Given the description of an element on the screen output the (x, y) to click on. 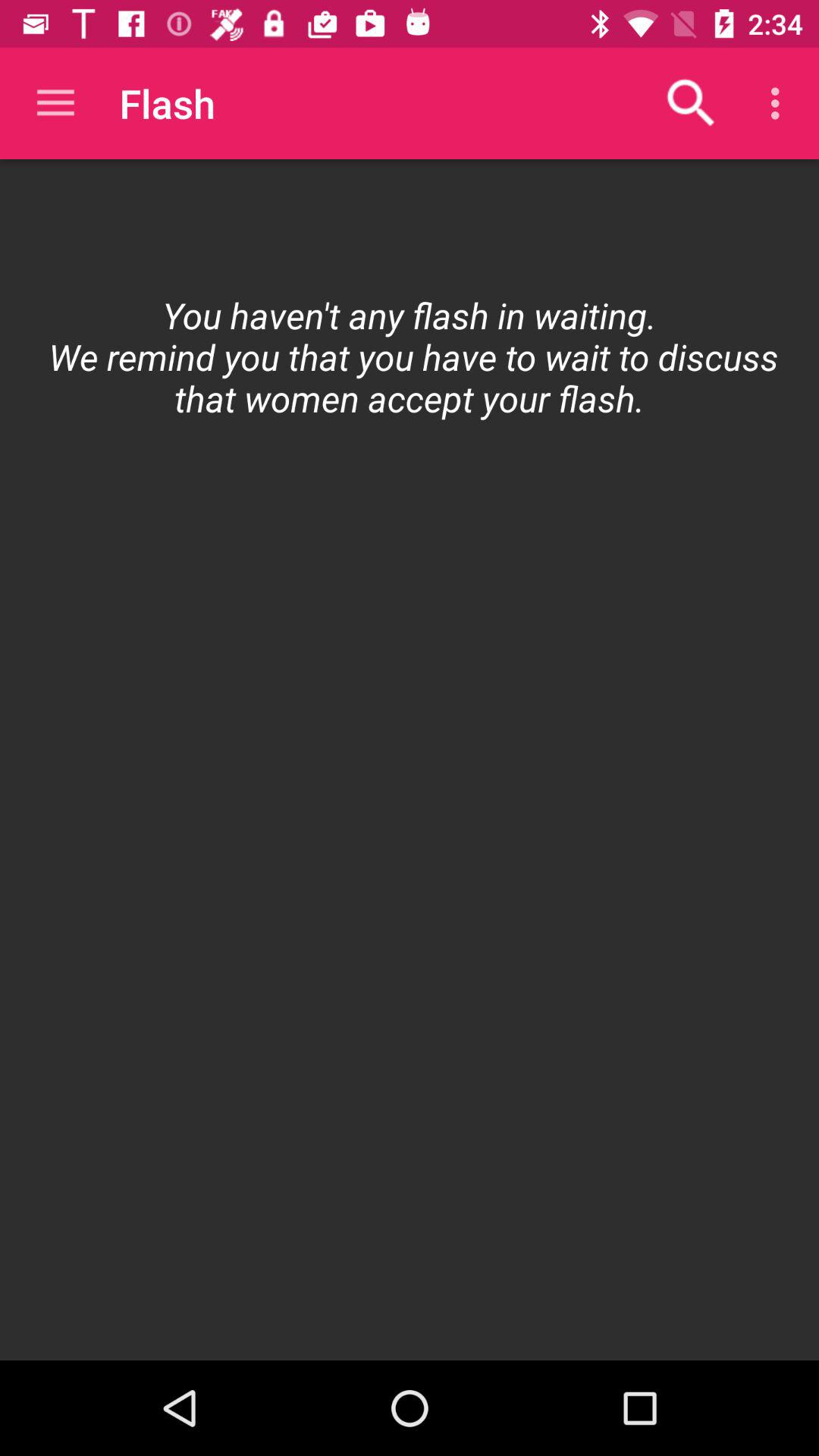
turn on item next to the flash item (691, 103)
